Given the description of an element on the screen output the (x, y) to click on. 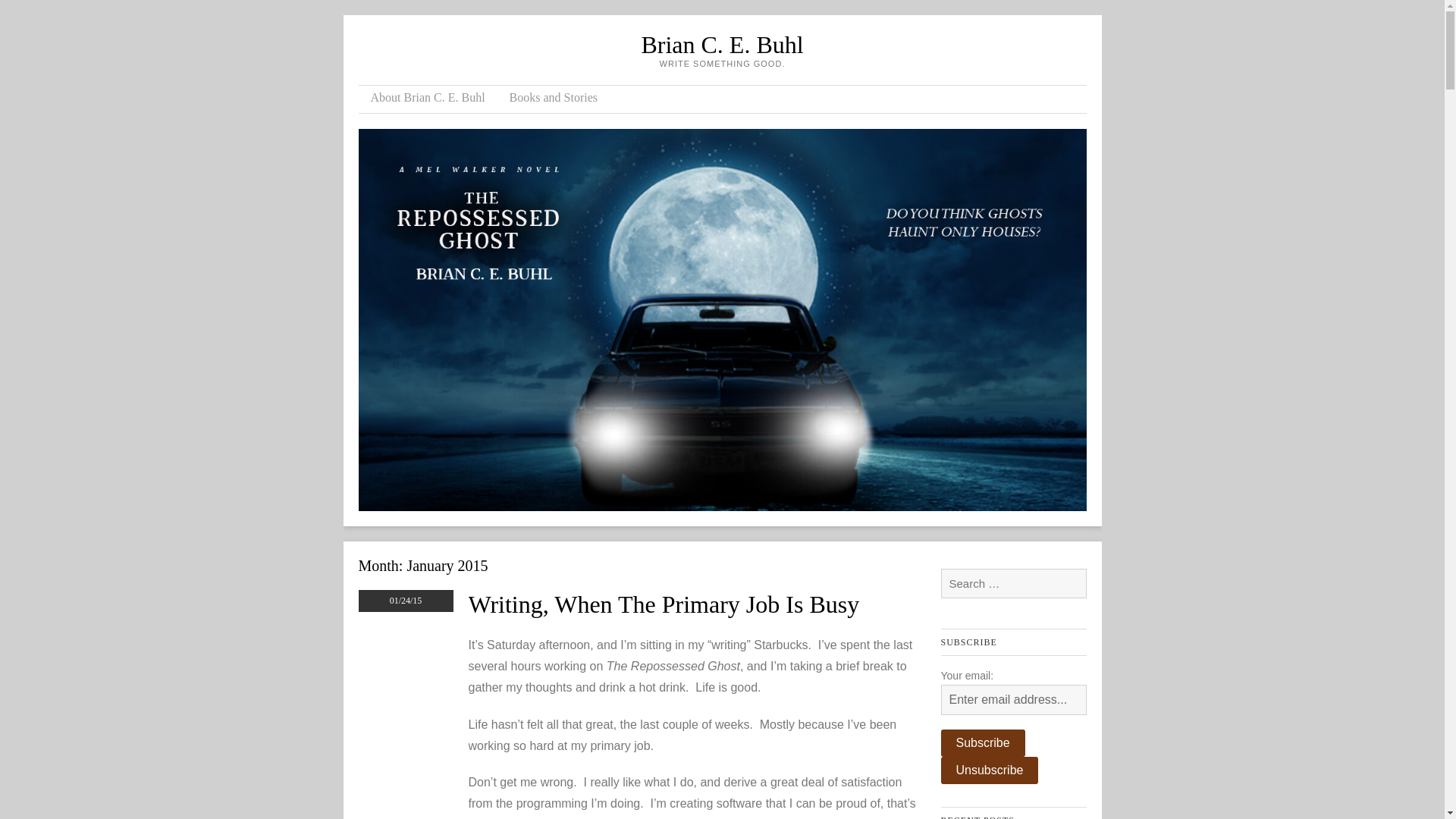
Search (33, 13)
Subscribe (982, 742)
Books and Stories (553, 99)
Unsubscribe (989, 769)
Subscribe (982, 742)
Permalink to Writing, when the Primary Job is Busy (664, 604)
Enter email address... (1013, 699)
Writing, When The Primary Job Is Busy (664, 604)
About Brian C. E. Buhl (427, 99)
Brian C. E. Buhl (721, 44)
Unsubscribe (989, 769)
